Given the description of an element on the screen output the (x, y) to click on. 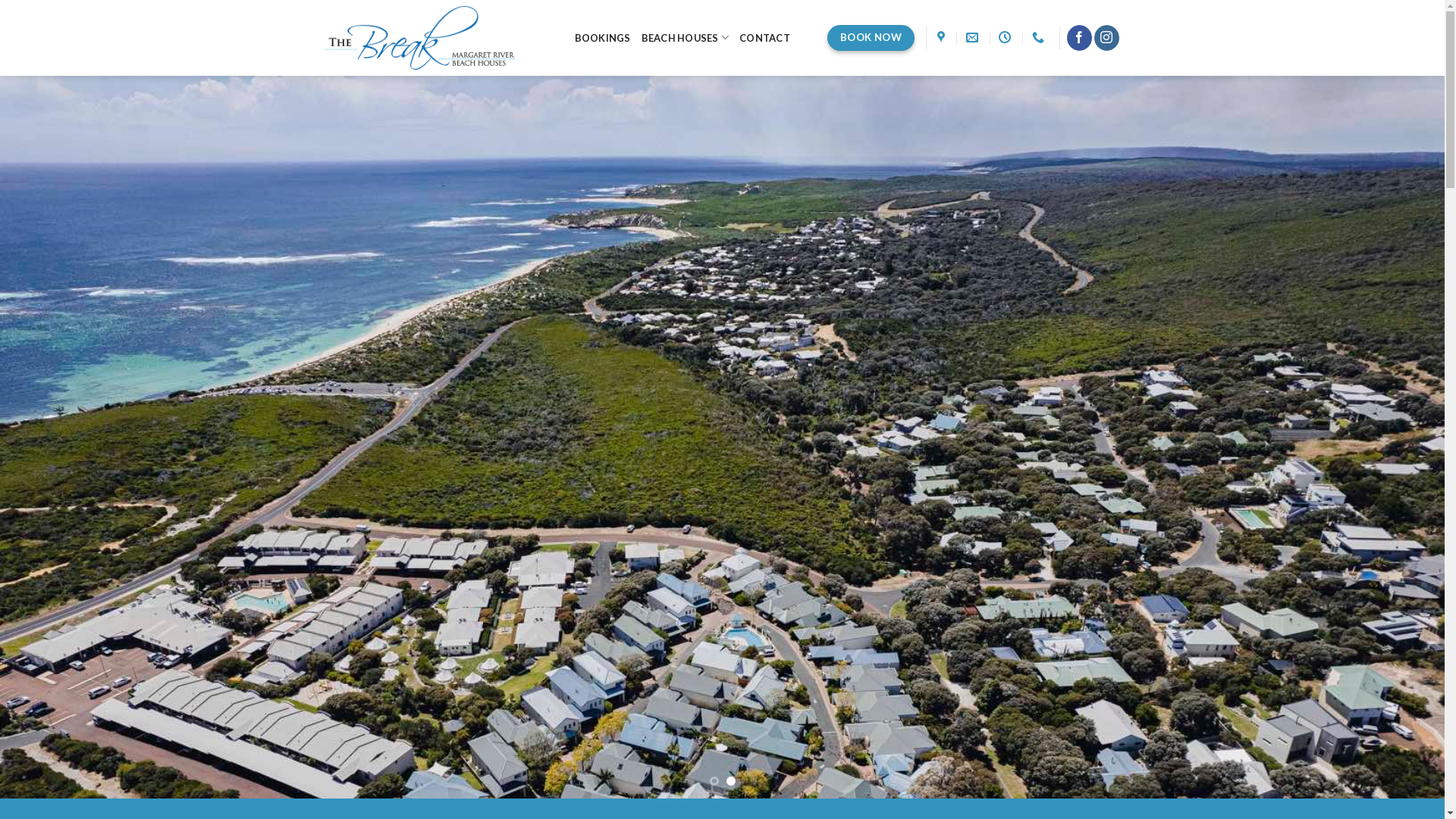
BOOKINGS Element type: text (602, 37)
18 Riedle Dr, Margaret River WA 6285 Element type: hover (942, 37)
08:00 - 17:00  Element type: hover (1006, 37)
BEACH HOUSES Element type: text (685, 37)
+61 421 512 606 Element type: hover (1040, 37)
stay@margaretriverbeachhouses.com.au Element type: hover (974, 37)
Follow on Facebook Element type: hover (1079, 37)
Follow on Instagram Element type: hover (1106, 37)
CONTACT Element type: text (764, 37)
BOOK NOW Element type: text (870, 37)
